Given the description of an element on the screen output the (x, y) to click on. 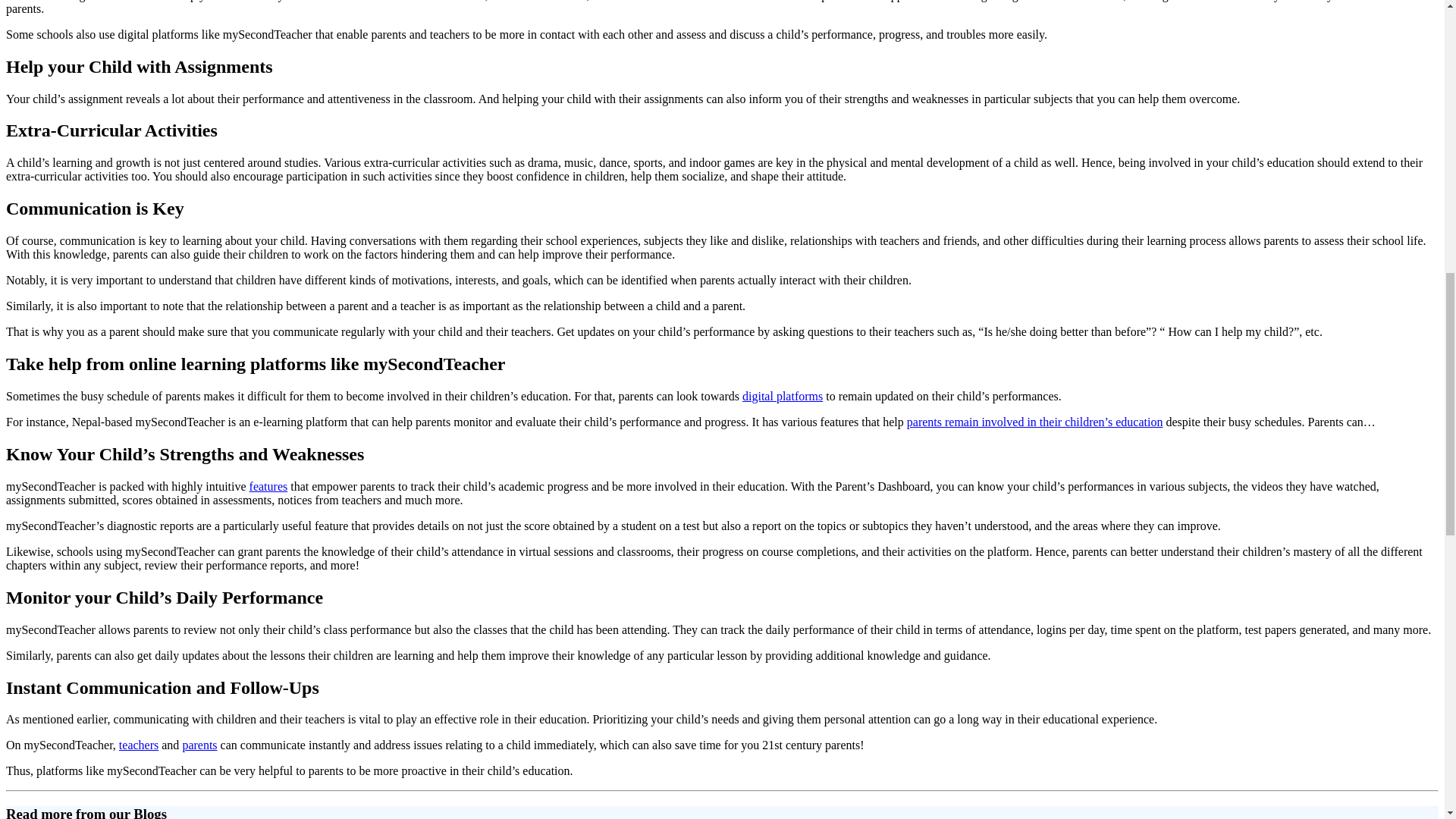
digital platforms (782, 395)
parents (199, 744)
teachers (138, 744)
features (268, 486)
